Given the description of an element on the screen output the (x, y) to click on. 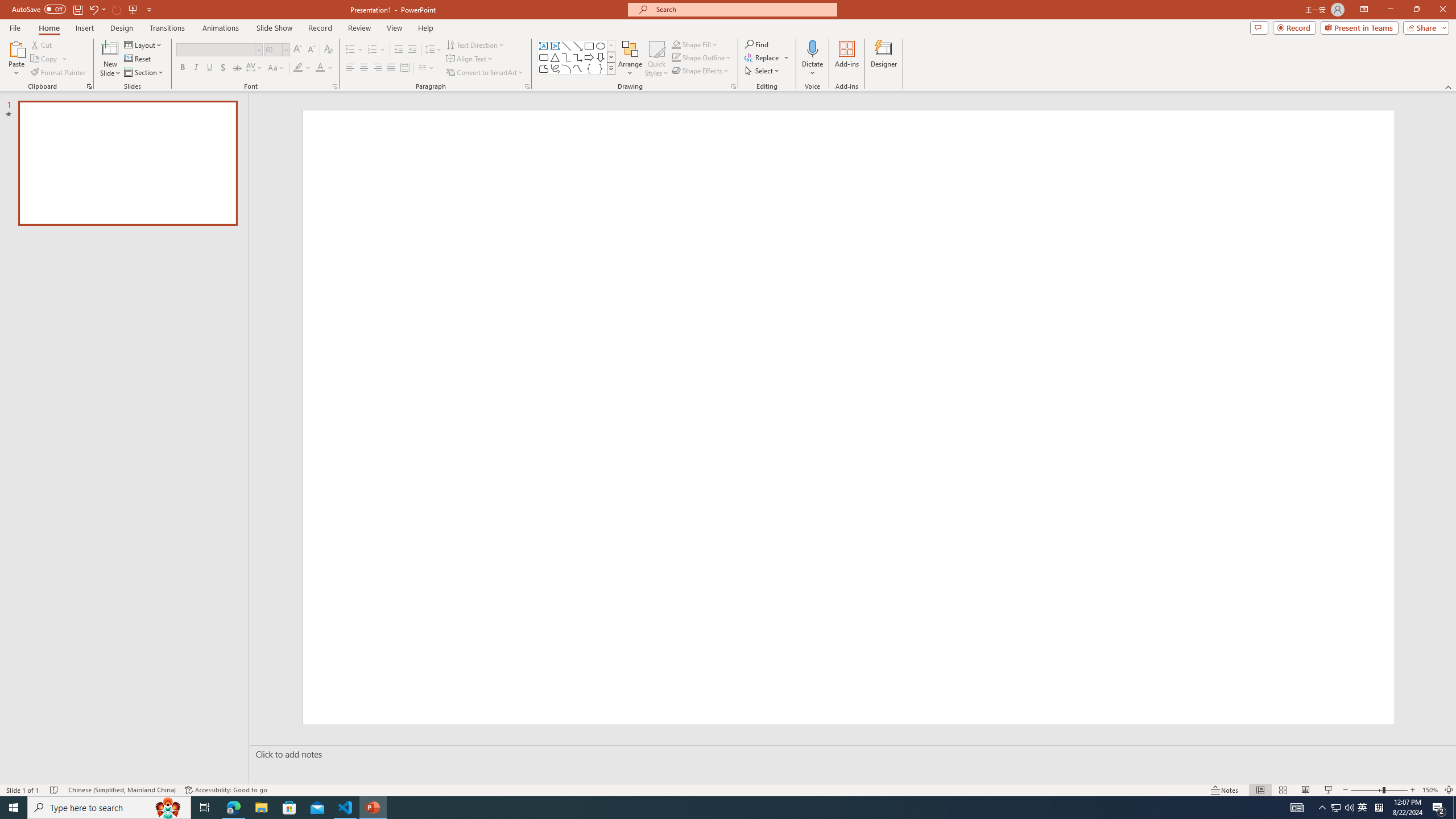
Arrow: Down (600, 57)
Text Direction (476, 44)
